Given the description of an element on the screen output the (x, y) to click on. 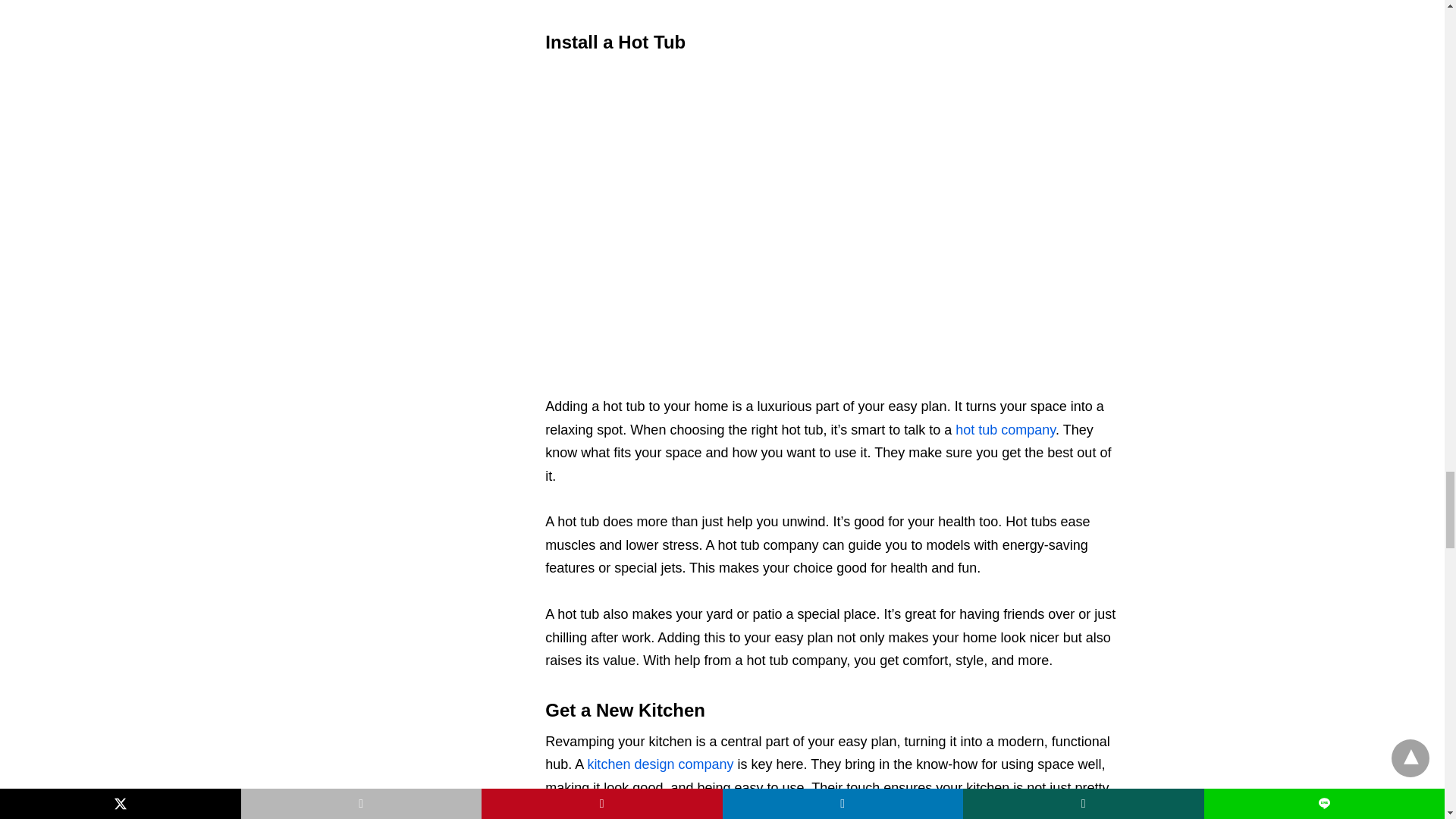
hot tub company (1005, 428)
kitchen design company (659, 764)
